Given the description of an element on the screen output the (x, y) to click on. 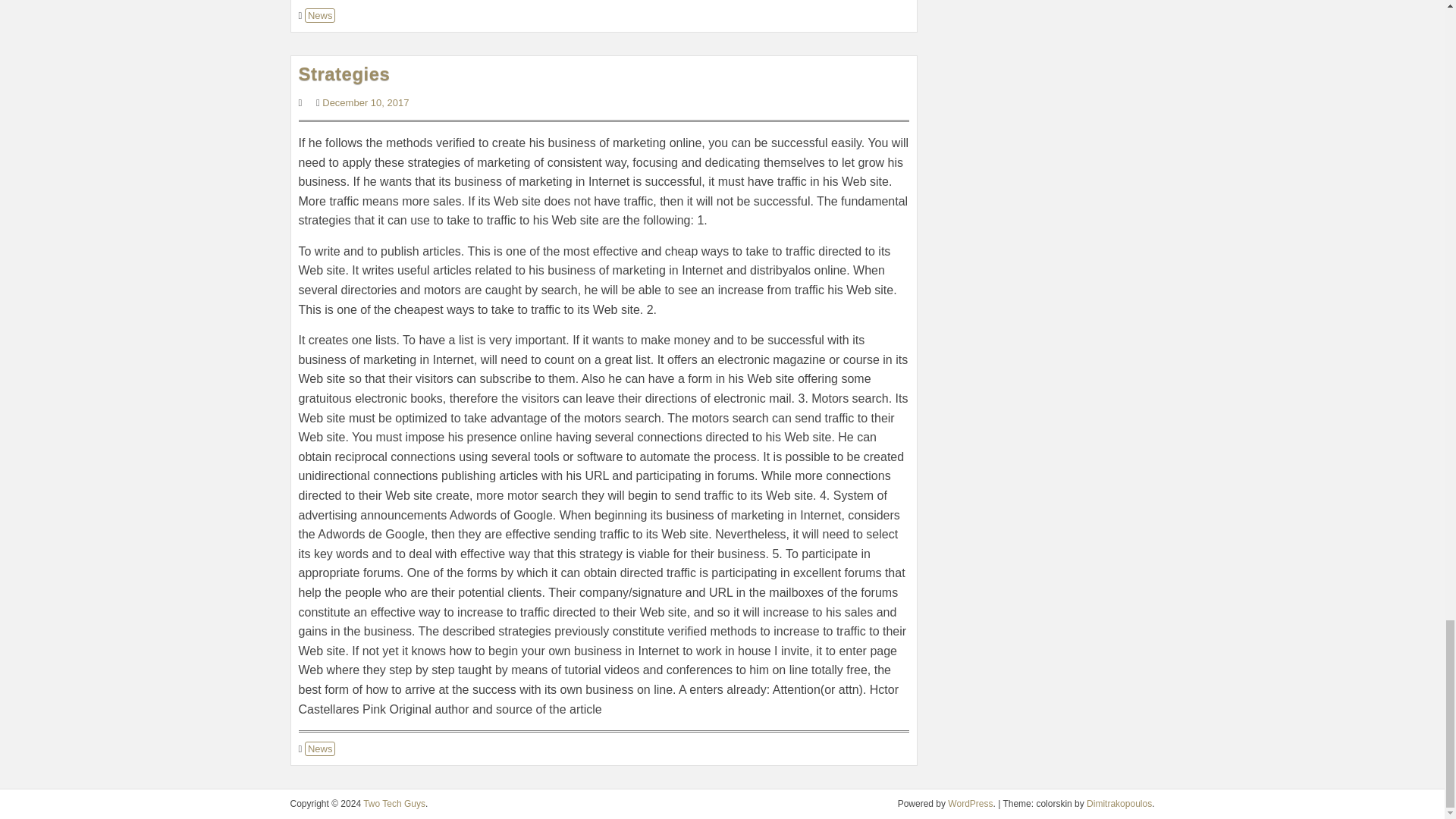
Two Tech Guys (393, 803)
Strategies (344, 73)
News (320, 748)
News (320, 15)
December 10, 2017 (365, 102)
WordPress (969, 803)
colorskin (1118, 803)
